Given the description of an element on the screen output the (x, y) to click on. 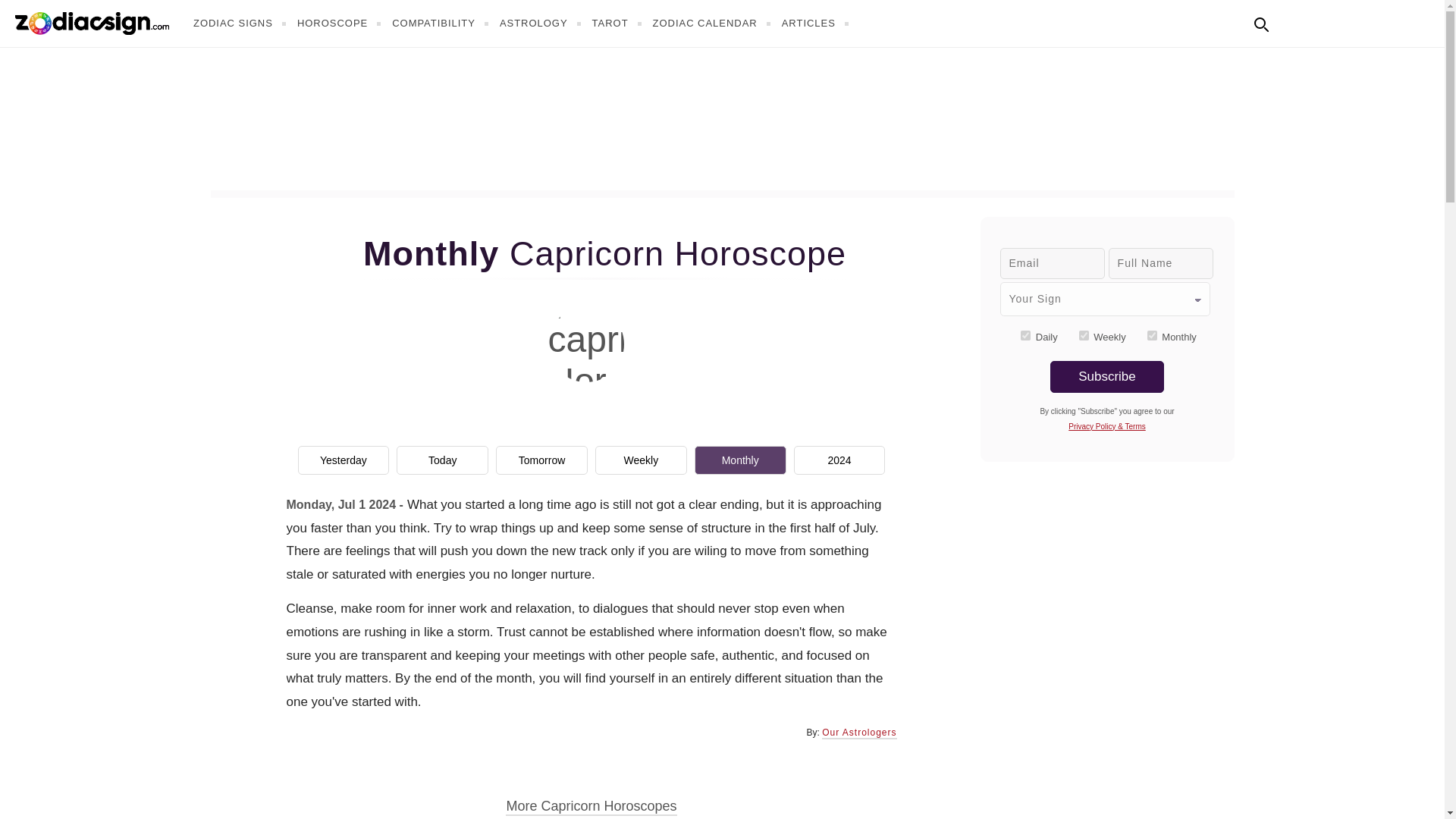
ZODIAC SIGNS (241, 23)
weekly (1083, 335)
monthly (1152, 335)
daily (1025, 335)
HOROSCOPE (341, 23)
In English (1294, 21)
